Given the description of an element on the screen output the (x, y) to click on. 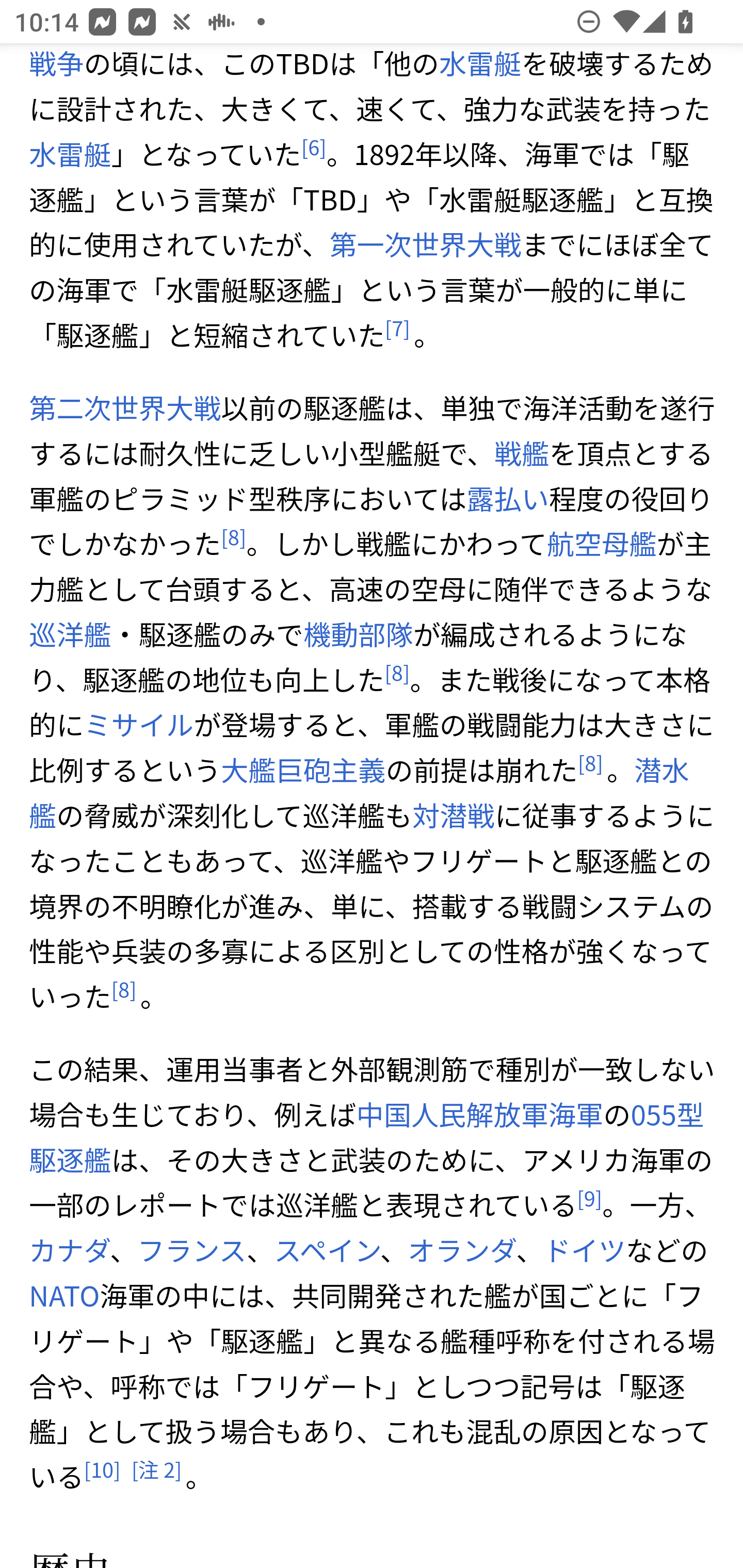
日露戦争 (359, 63)
水雷艇 (478, 63)
[] [ 6 ] (312, 147)
水雷艇 (70, 154)
第一次世界大戦 (424, 244)
[] [ 7 ] (396, 328)
第二次世界大戦 (125, 407)
戦艦 (521, 453)
露払い (507, 499)
[] [ 8 ] (233, 536)
航空母艦 (601, 543)
巡洋艦 (70, 634)
機動部隊 (357, 634)
[] [ 8 ] (396, 672)
ミサイル (138, 724)
[] [ 8 ] (589, 763)
潜水艦 (358, 792)
大艦巨砲主義 (303, 769)
対潜戦 (452, 814)
[] [ 8 ] (123, 990)
055型駆逐艦 (366, 1137)
中国人民解放軍海軍 (479, 1114)
[] [ 9 ] (589, 1198)
カナダ (68, 1250)
フランス (192, 1250)
スペイン (326, 1250)
オランダ (461, 1250)
ドイツ (583, 1250)
NATO (64, 1294)
[] [ 10 ] (101, 1469)
[注 ] [注  2 ] (156, 1469)
